Given the description of an element on the screen output the (x, y) to click on. 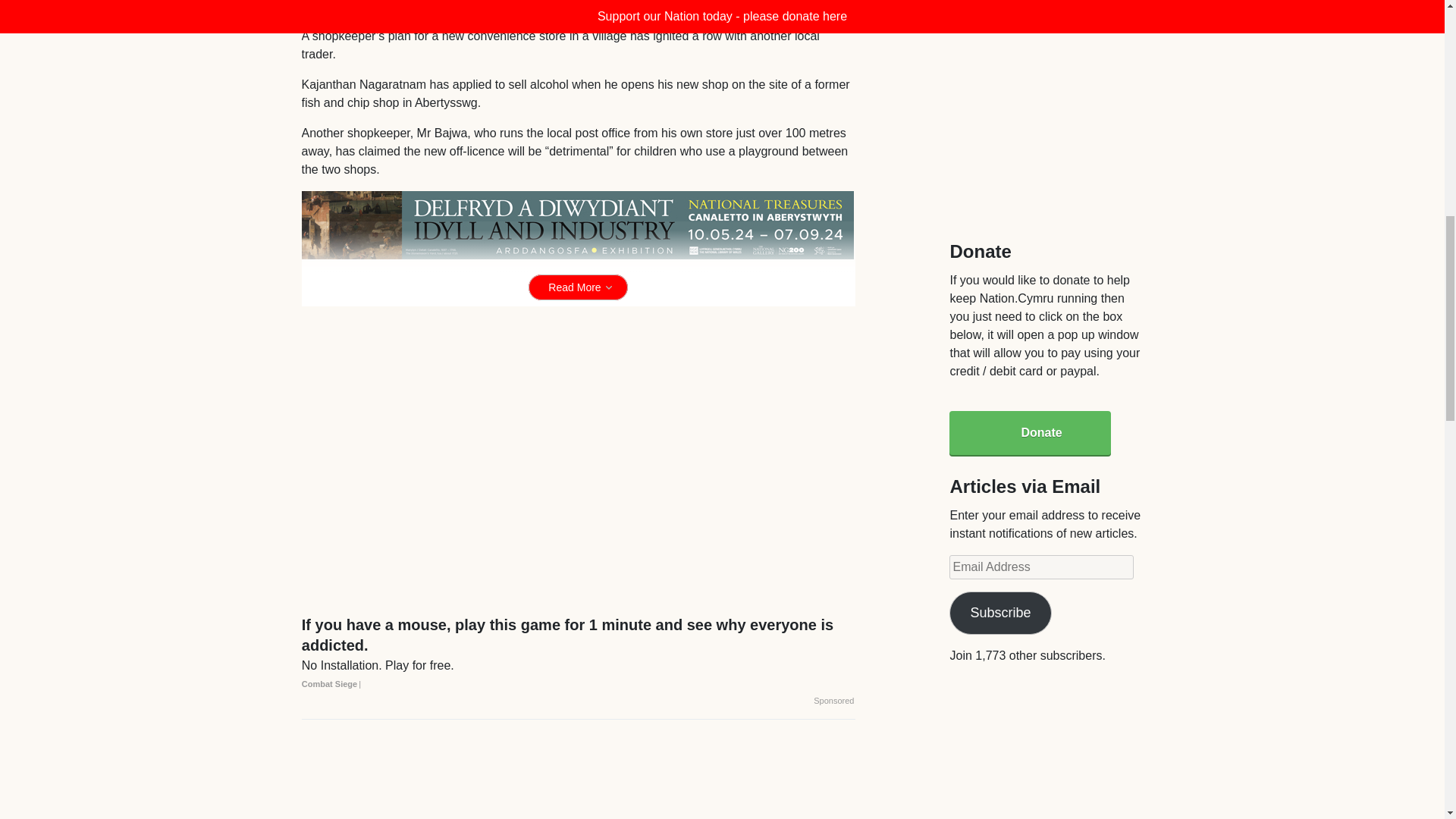
Sponsored (833, 701)
Read More (577, 287)
